Given the description of an element on the screen output the (x, y) to click on. 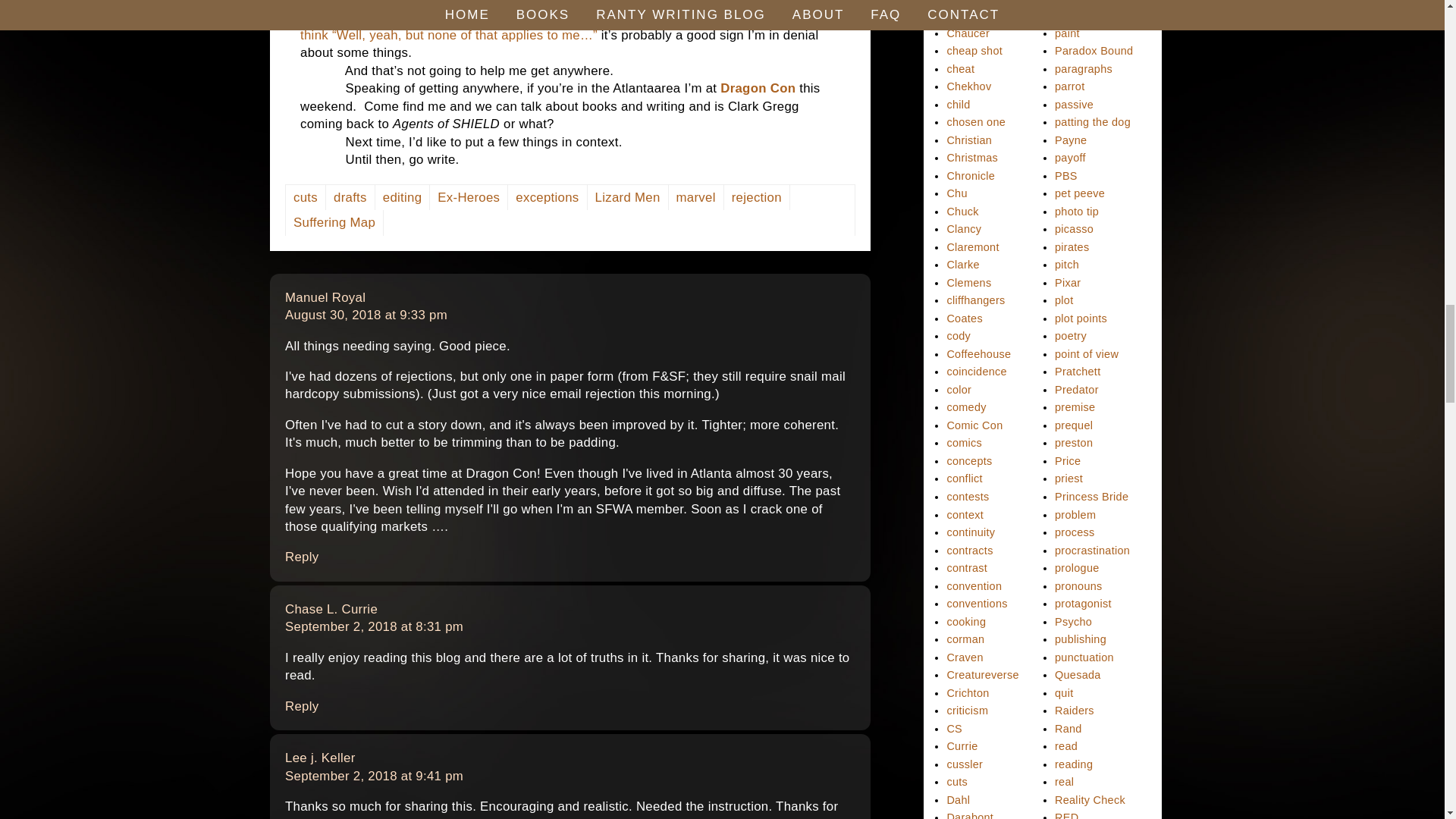
marvel (695, 197)
September 2, 2018 at 9:41 pm (325, 297)
cuts (374, 775)
Lizard Men (305, 197)
Reply (628, 197)
exceptions (301, 556)
Ex-Heroes (547, 197)
Dragon Con (468, 197)
rejection (757, 88)
Reply (756, 197)
Reply (301, 706)
Reply (301, 706)
September 2, 2018 at 8:31 pm (331, 608)
